Given the description of an element on the screen output the (x, y) to click on. 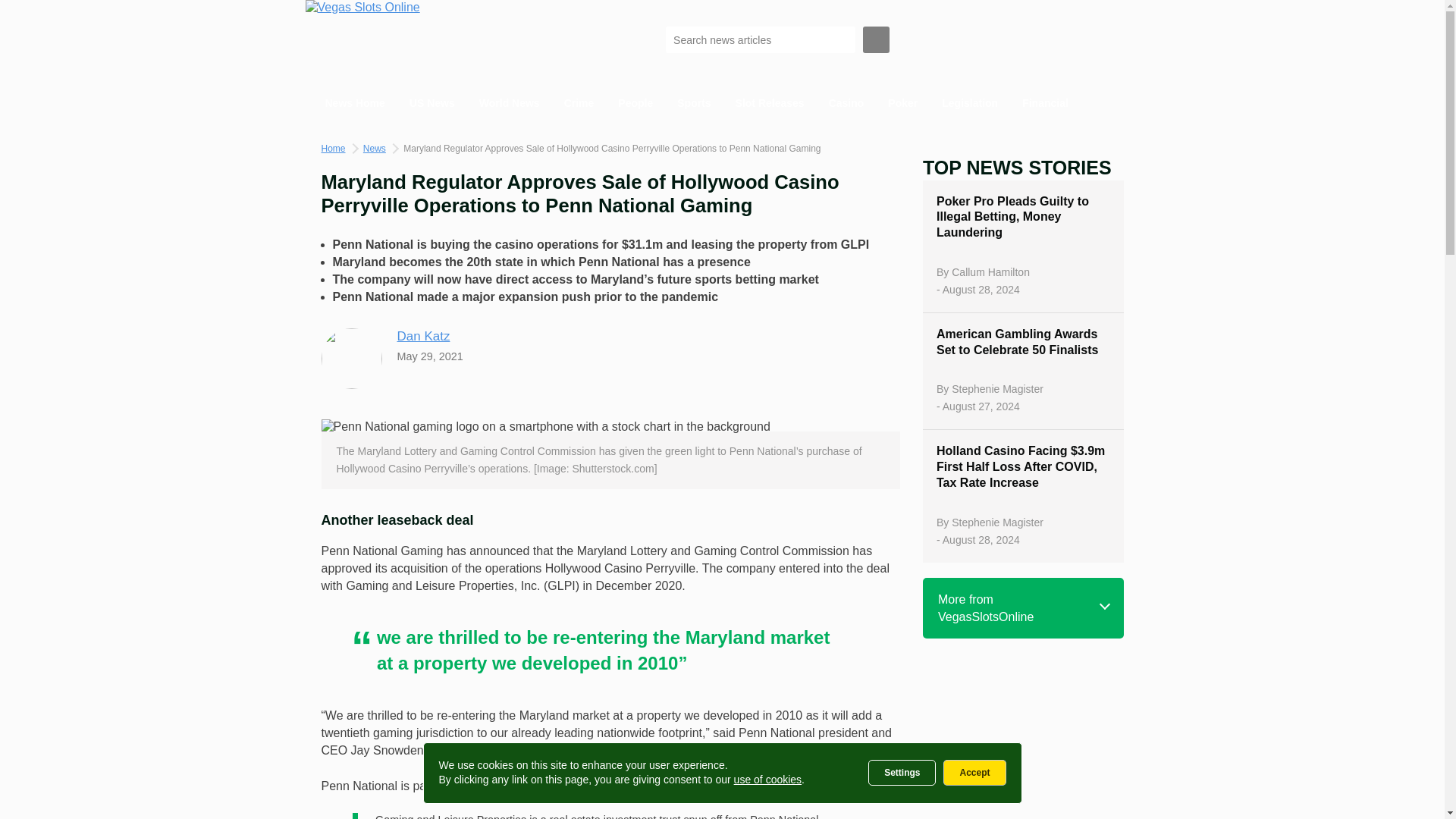
Stephenie Magister (997, 522)
People (635, 103)
Stephenie Magister (997, 388)
Legislation (970, 103)
Callum Hamilton (990, 272)
US News (432, 103)
Dan Katz (423, 336)
Home (333, 148)
News (373, 148)
Poker Pro Pleads Guilty to Illegal Betting, Money Laundering (1022, 217)
